Given the description of an element on the screen output the (x, y) to click on. 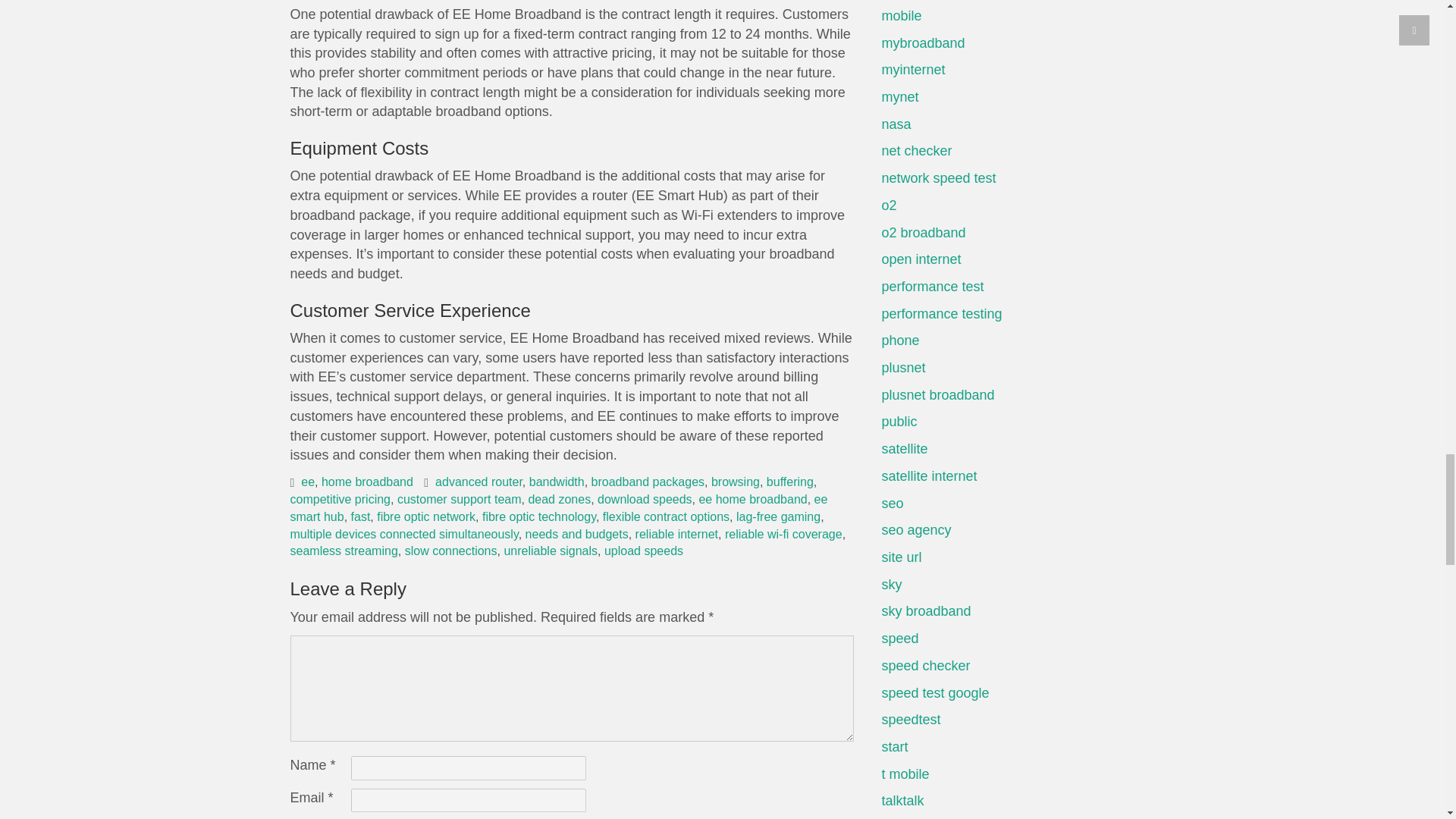
ee smart hub (558, 508)
home broadband (367, 481)
seamless streaming (343, 550)
fast (360, 516)
lag-free gaming (778, 516)
competitive pricing (339, 499)
slow connections (450, 550)
bandwidth (557, 481)
download speeds (644, 499)
reliable wi-fi coverage (784, 533)
